Given the description of an element on the screen output the (x, y) to click on. 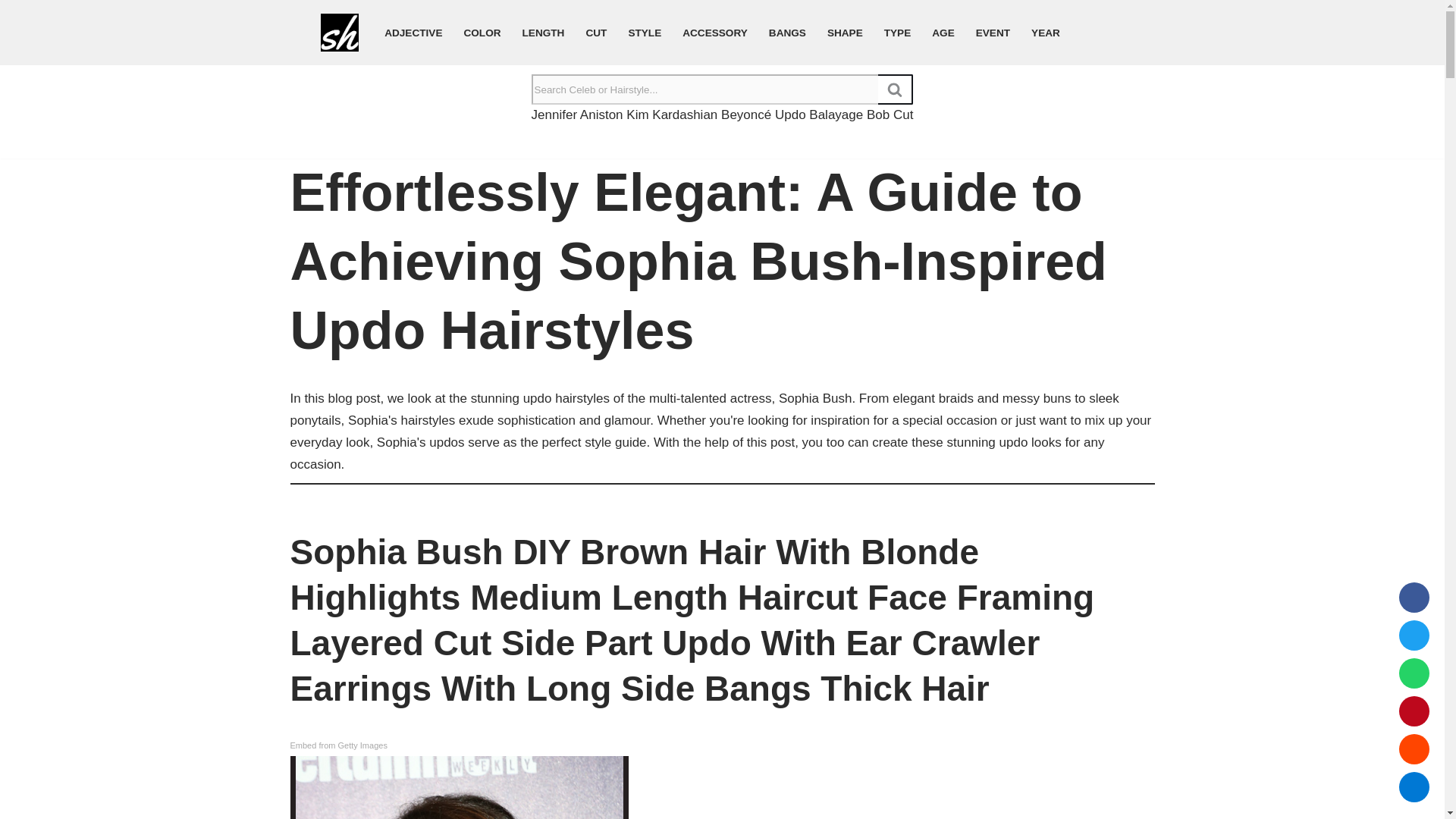
SHAPE (845, 31)
TYPE (897, 31)
STYLE (644, 31)
Bob Cut (889, 114)
EVENT (992, 31)
COLOR (481, 31)
Jennifer Aniston (577, 114)
ACCESSORY (715, 31)
YEAR (1044, 31)
Balayage (836, 114)
CUT (596, 31)
LENGTH (543, 31)
Updo (790, 114)
BANGS (787, 31)
AGE (942, 31)
